Given the description of an element on the screen output the (x, y) to click on. 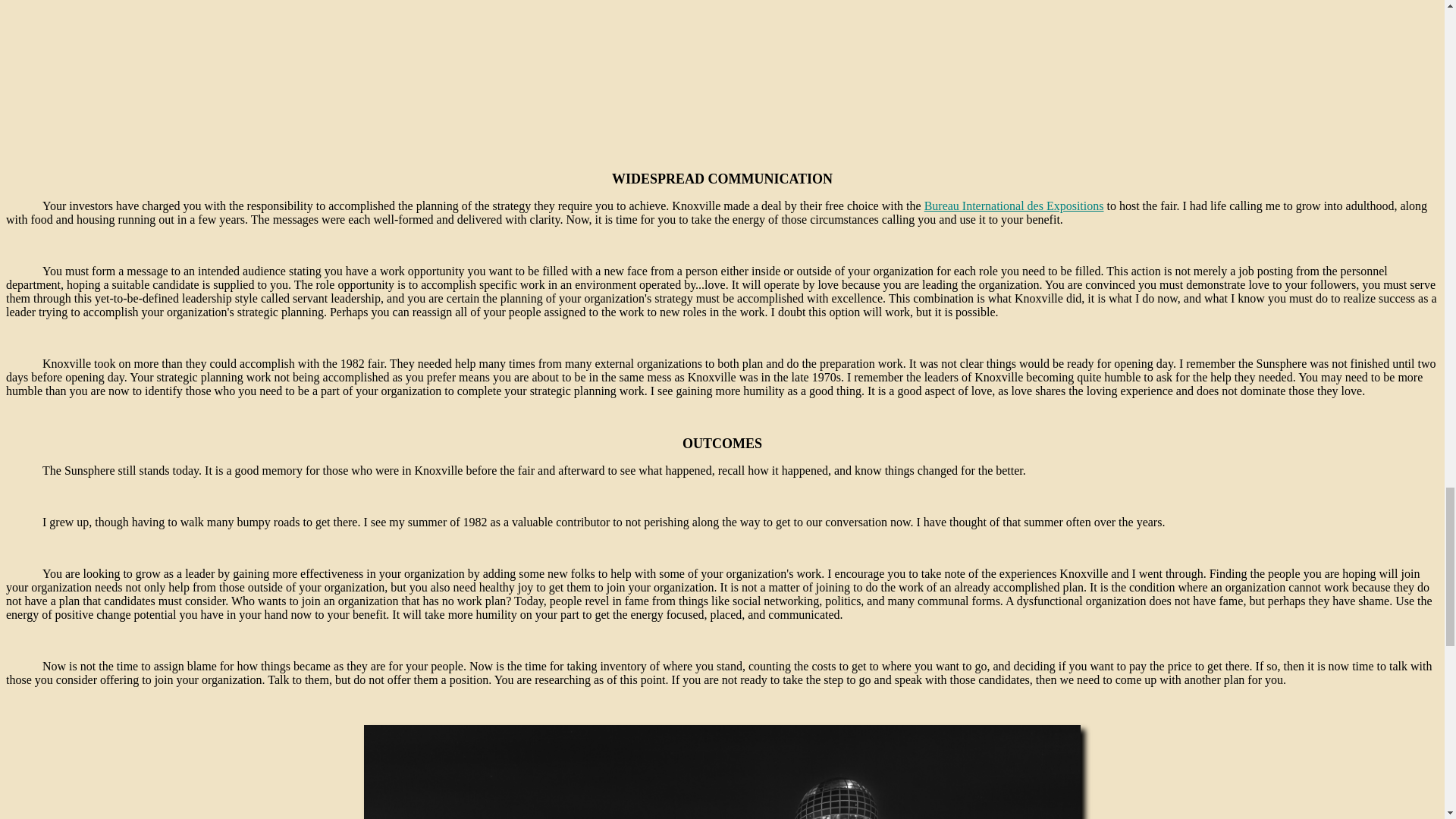
Bureau International des Expositions (1013, 205)
YouTube video player (721, 66)
